Given the description of an element on the screen output the (x, y) to click on. 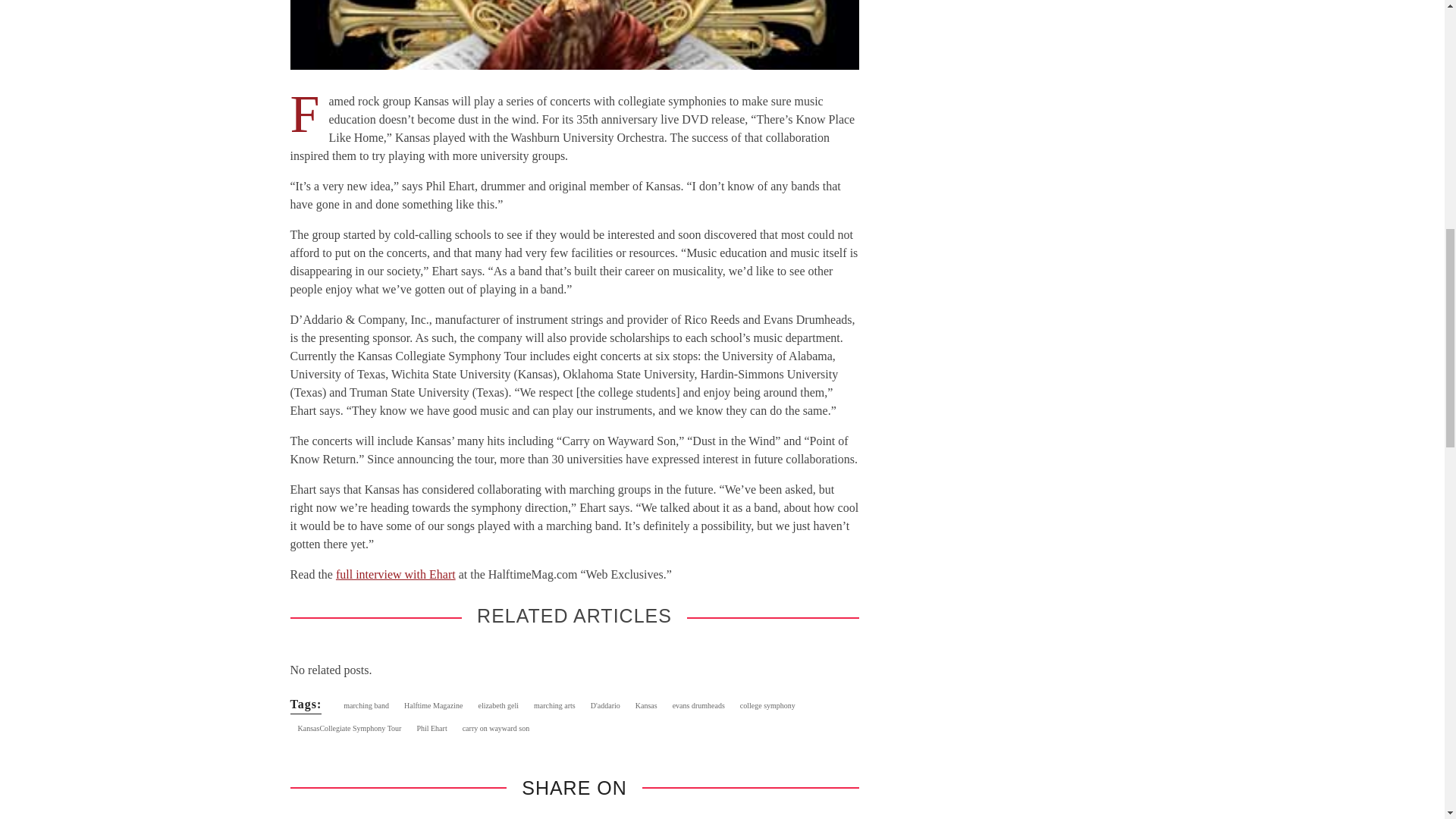
View all posts tagged Kansas (646, 705)
View all posts tagged evans drumheads (698, 705)
View all posts tagged KansasCollegiate Symphony Tour (349, 728)
View all posts tagged carry on wayward son (495, 728)
View all posts tagged Halftime Magazine (433, 705)
View all posts tagged elizabeth geli (497, 705)
View all posts tagged marching band (366, 705)
View all posts tagged D'addario (605, 705)
View all posts tagged marching arts (554, 705)
View all posts tagged college symphony (767, 705)
View all posts tagged Phil Ehart (431, 728)
